Given the description of an element on the screen output the (x, y) to click on. 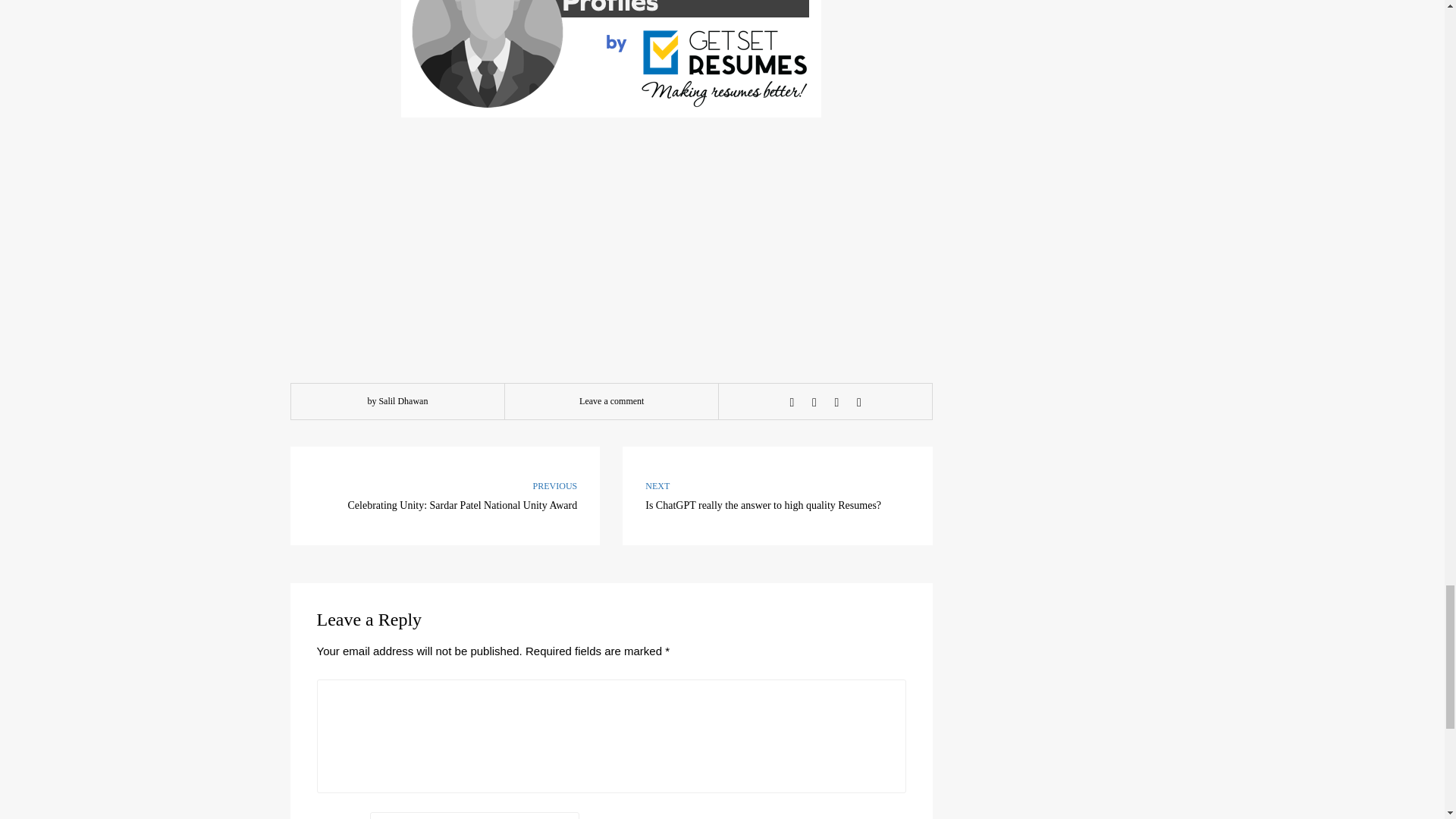
Pin this (778, 264)
Leave a comment (858, 171)
Share this (611, 169)
Post comment (791, 171)
yes (379, 795)
Tweet this (321, 734)
Post comment (814, 171)
Share with Google Plus (379, 795)
